Given the description of an element on the screen output the (x, y) to click on. 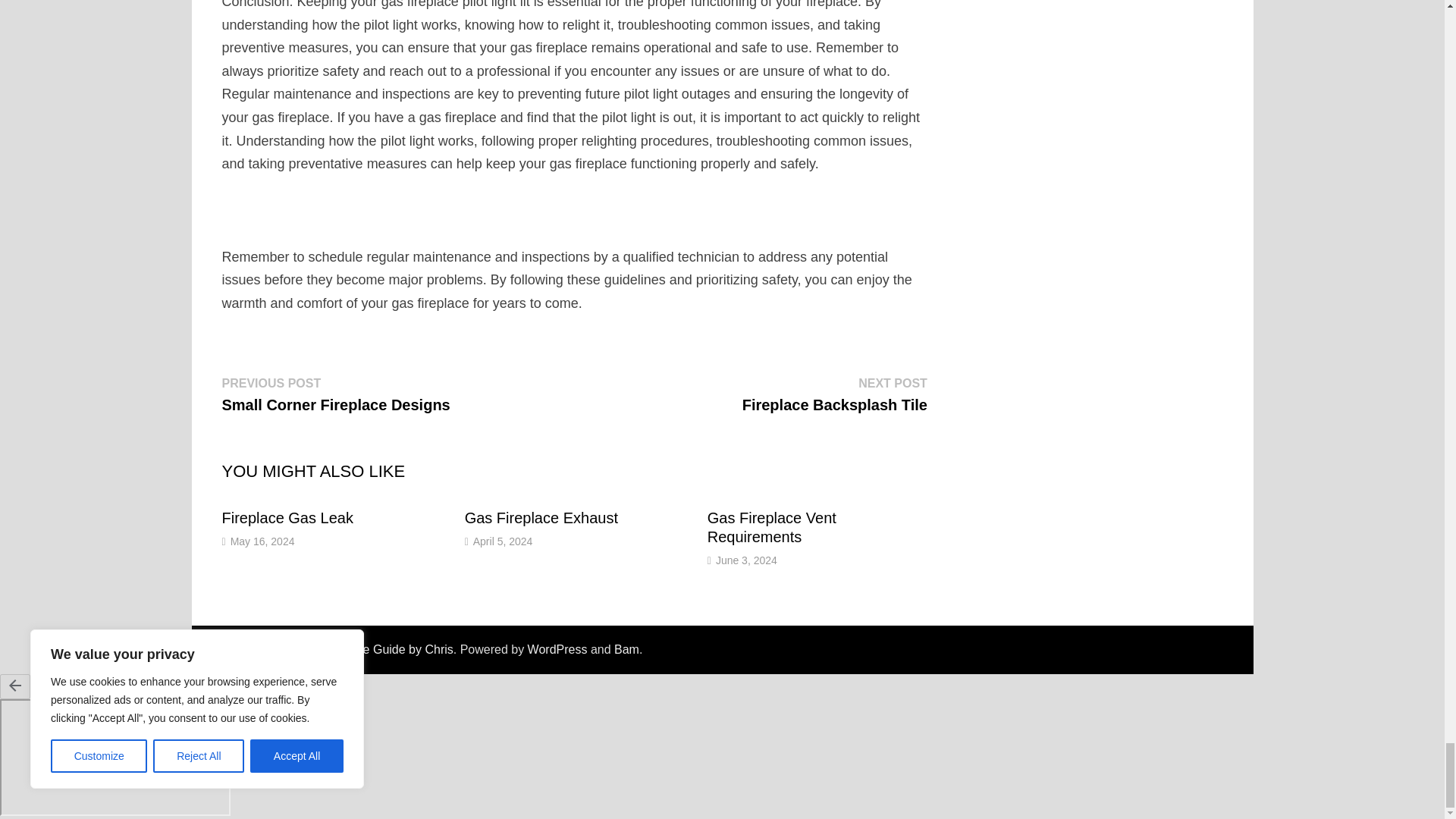
Fireplace Gas Leak (286, 517)
May 16, 2024 (834, 394)
Fireplace Guide by Chris (262, 541)
June 3, 2024 (386, 649)
Fireplace Gas Leak (335, 394)
April 5, 2024 (746, 560)
Gas Fireplace Exhaust (286, 517)
Gas Fireplace Exhaust (502, 541)
Gas Fireplace Vent Requirements (540, 517)
Gas Fireplace Vent Requirements (540, 517)
